Given the description of an element on the screen output the (x, y) to click on. 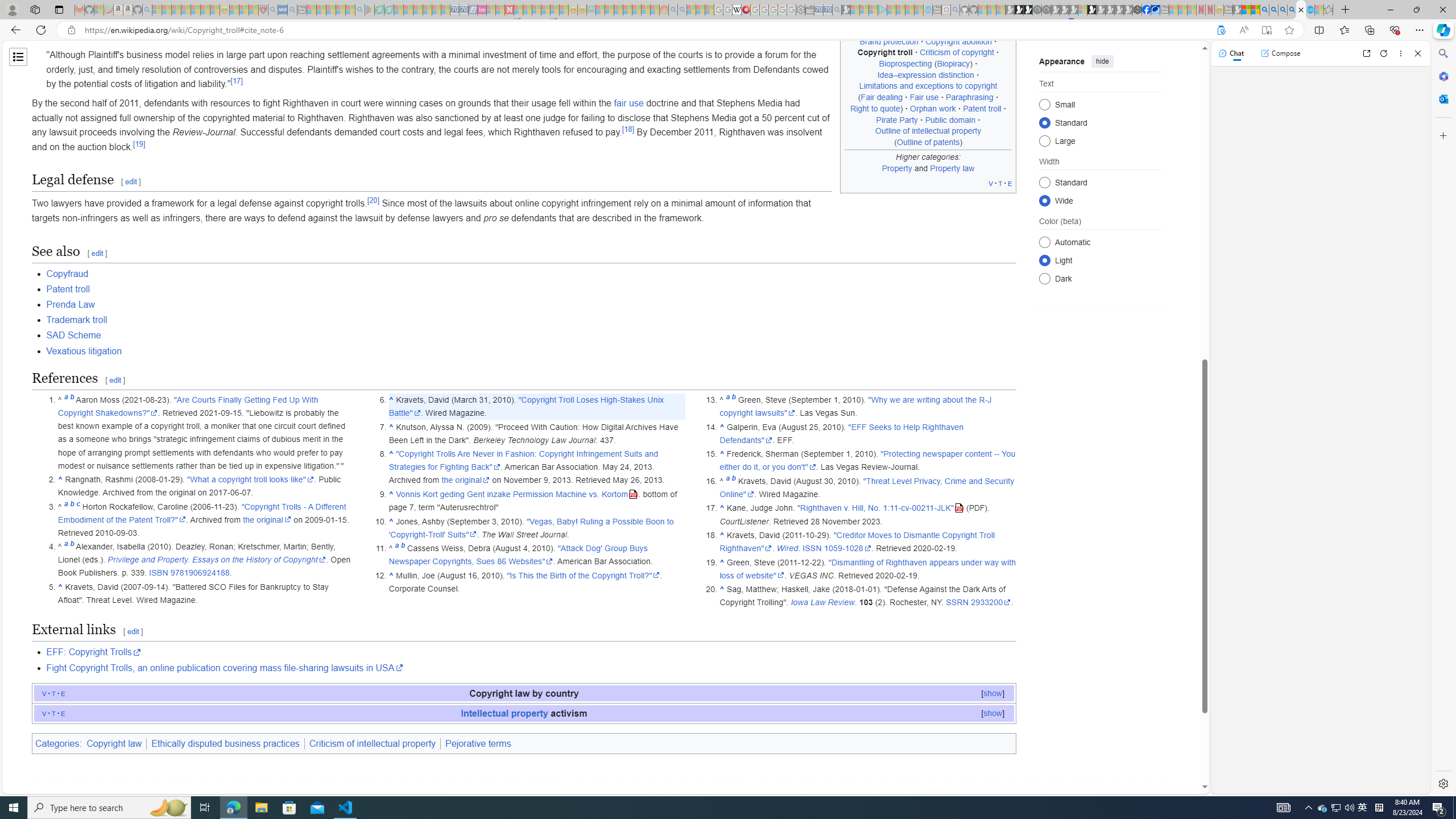
MSNBC - MSN - Sleeping (600, 9)
Prenda Law (531, 304)
Jobs - lastminute.com Investor Portal - Sleeping (482, 9)
Vonnis Kort geding Gent inzake Permission Machine vs. Kortom (517, 493)
edit (132, 631)
App bar (728, 29)
Browser essentials (1394, 29)
"Why we are writing about the R-J copyright lawsuits" (855, 406)
MSN - Sleeping (1236, 9)
Bioprospecting (905, 63)
Copyright abolition (959, 40)
Microsoft 365 (1442, 76)
